Given the description of an element on the screen output the (x, y) to click on. 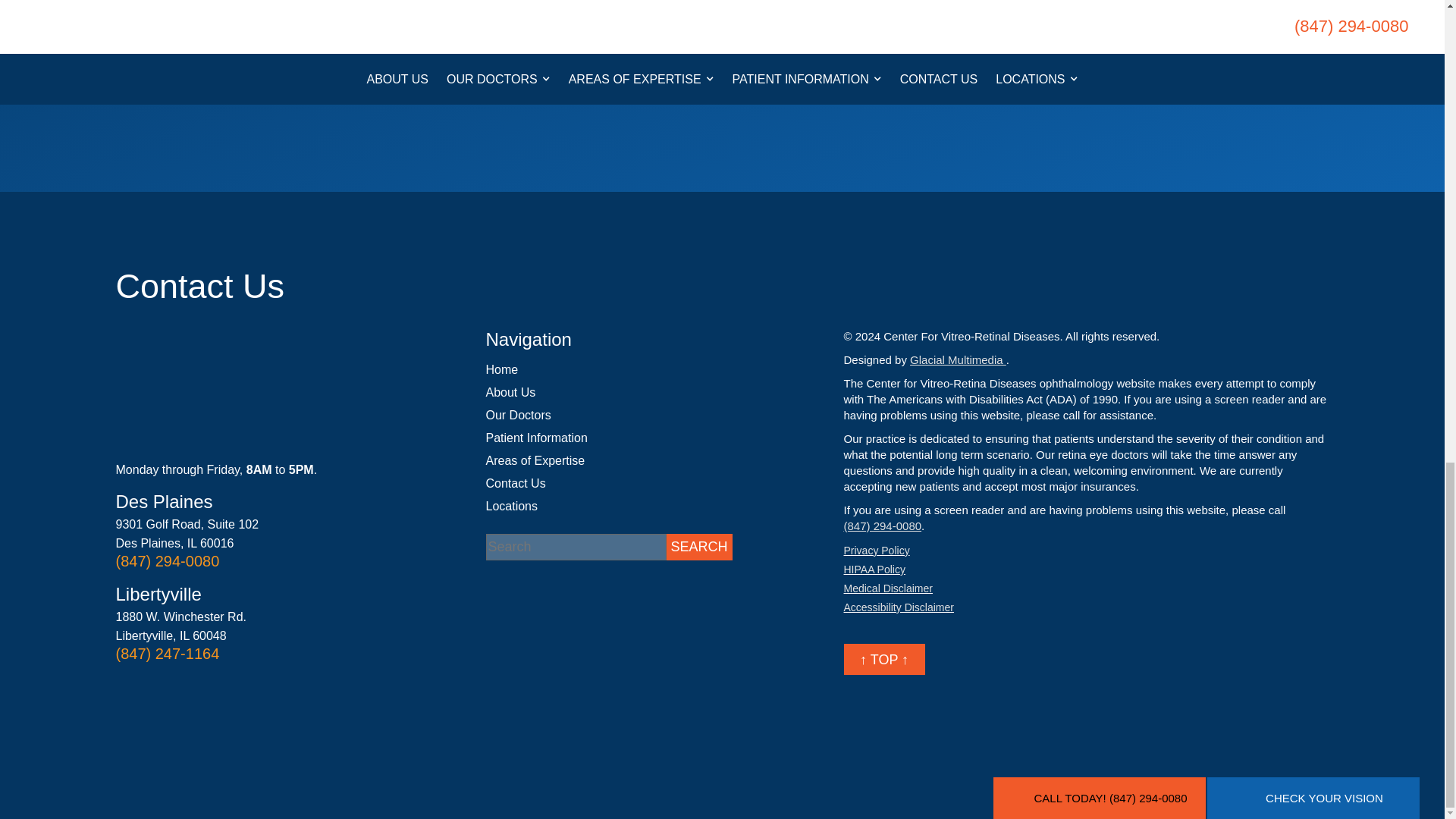
Link to the Glacial Multimedia website - opens in new tab (958, 359)
Search (698, 546)
Search (698, 546)
